Given the description of an element on the screen output the (x, y) to click on. 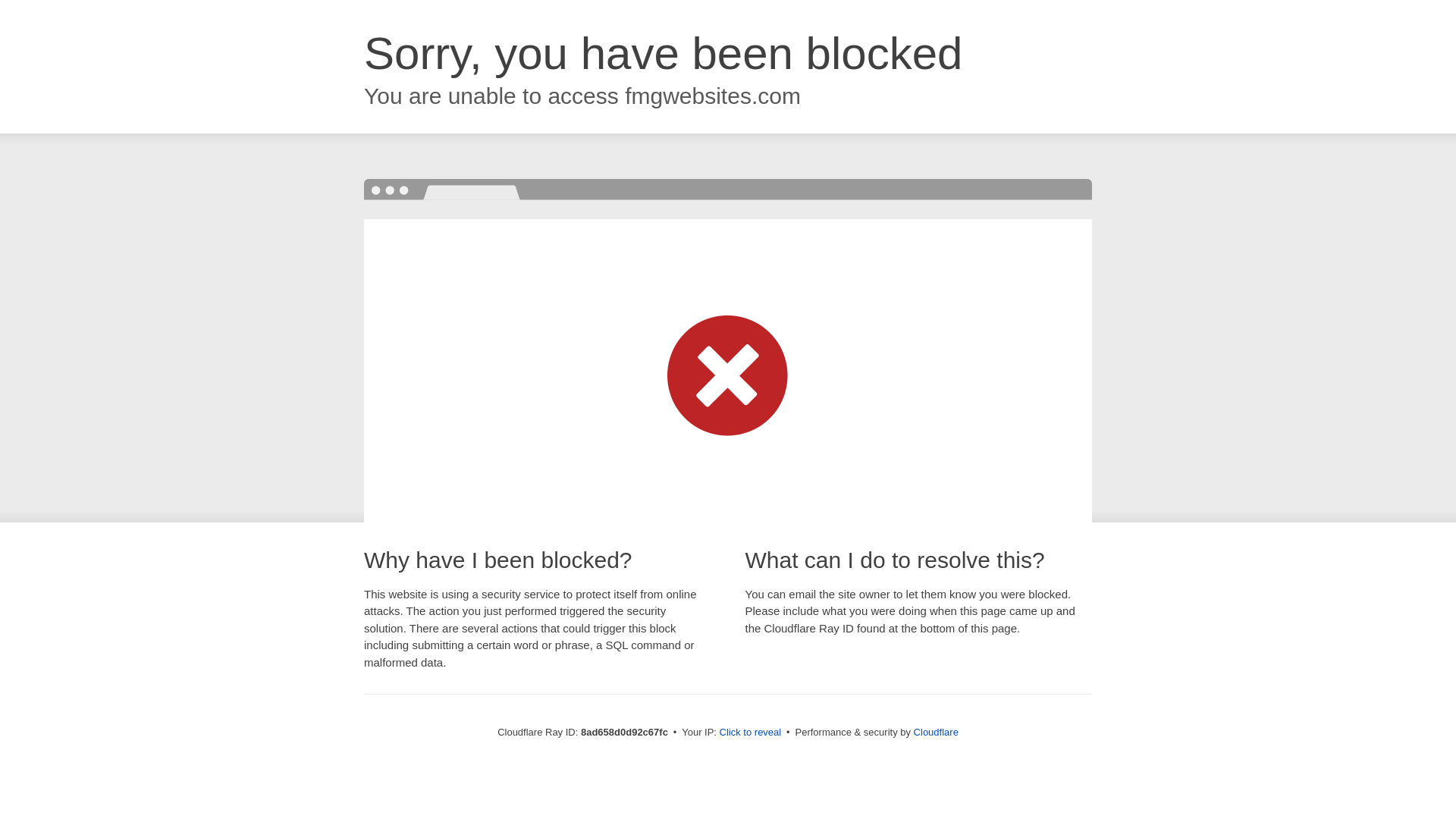
Click to reveal (750, 732)
Cloudflare (936, 731)
